Given the description of an element on the screen output the (x, y) to click on. 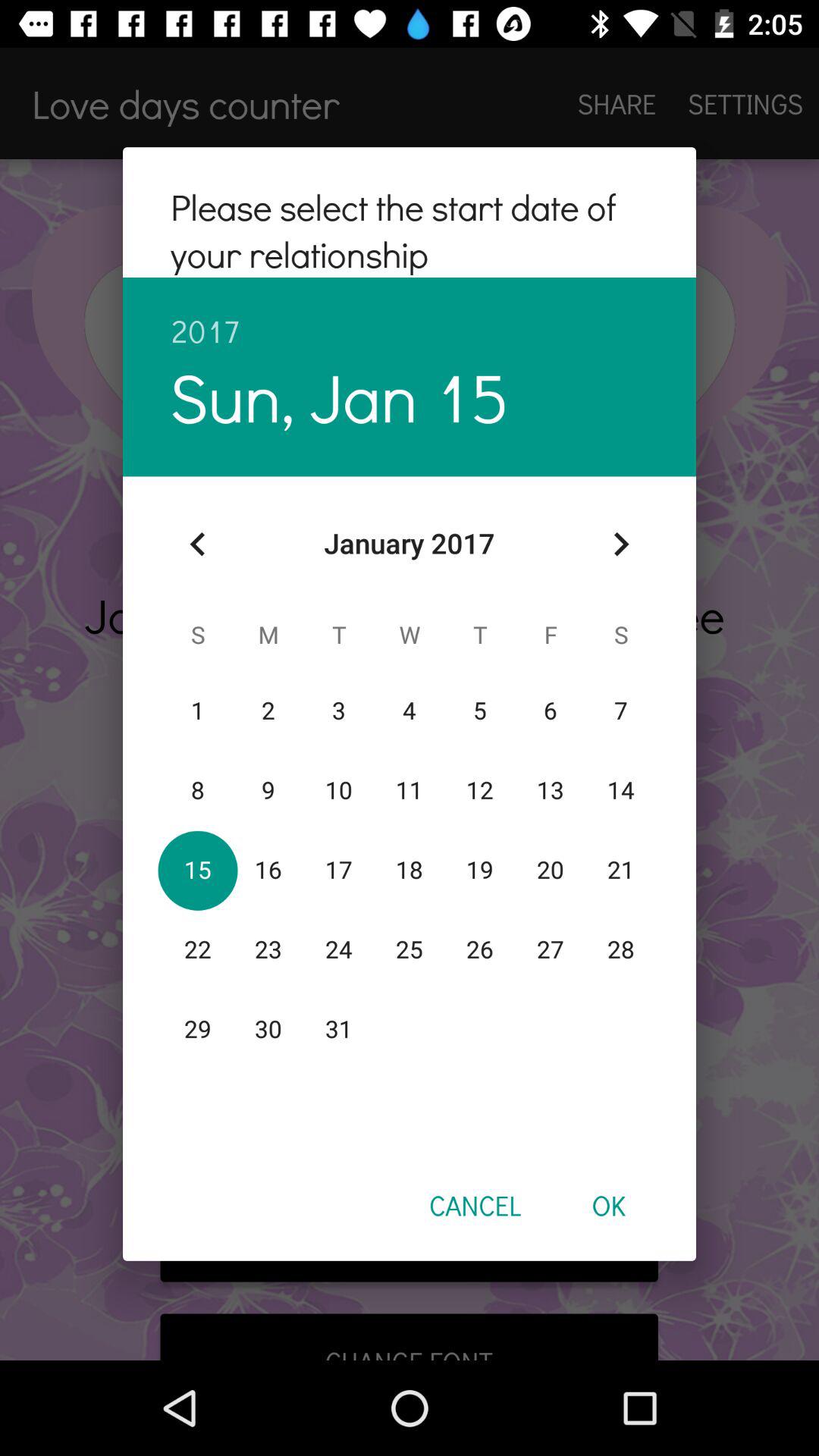
select cancel item (474, 1204)
